Given the description of an element on the screen output the (x, y) to click on. 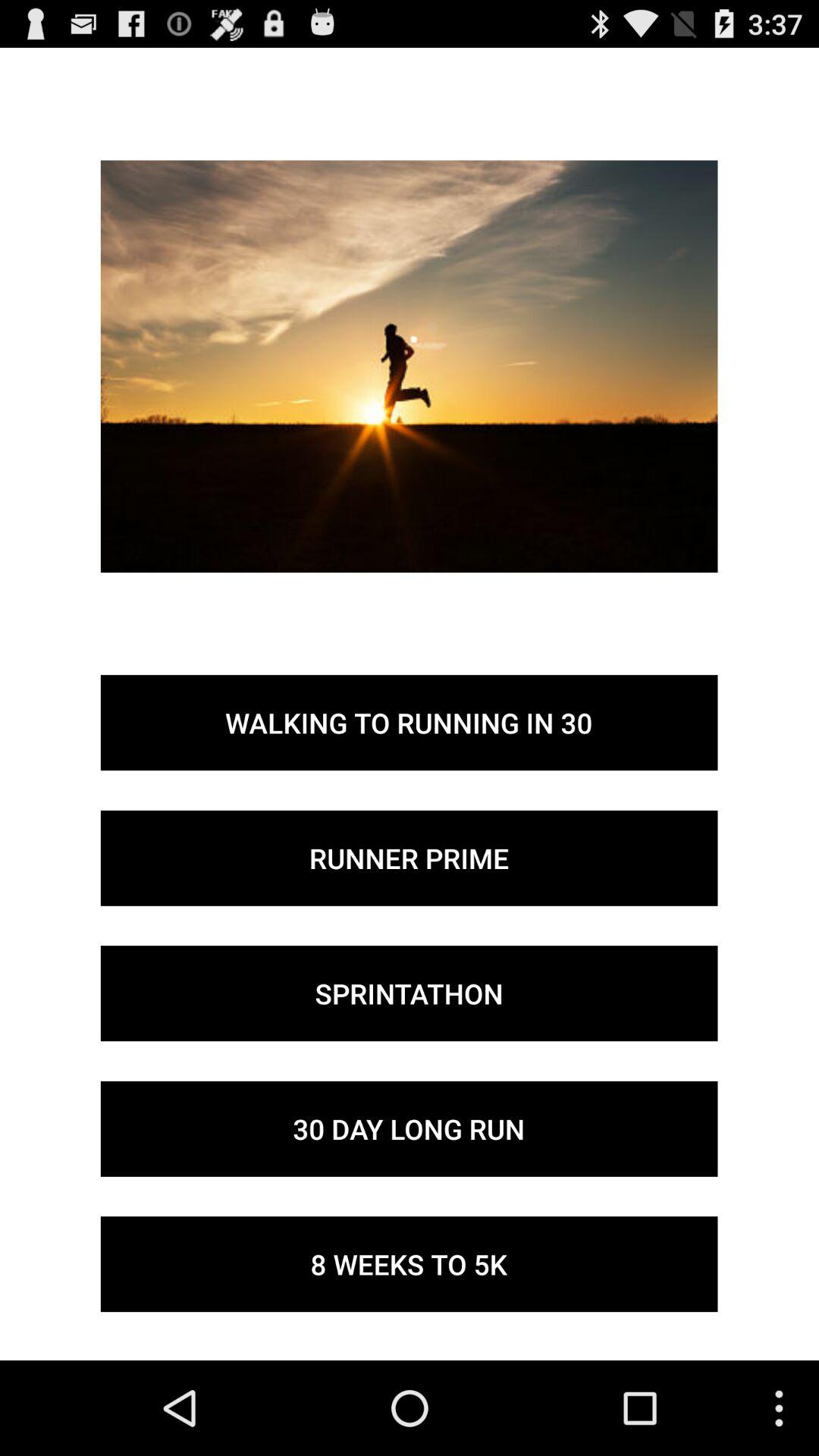
select the item below the sprintathon item (408, 1128)
